Given the description of an element on the screen output the (x, y) to click on. 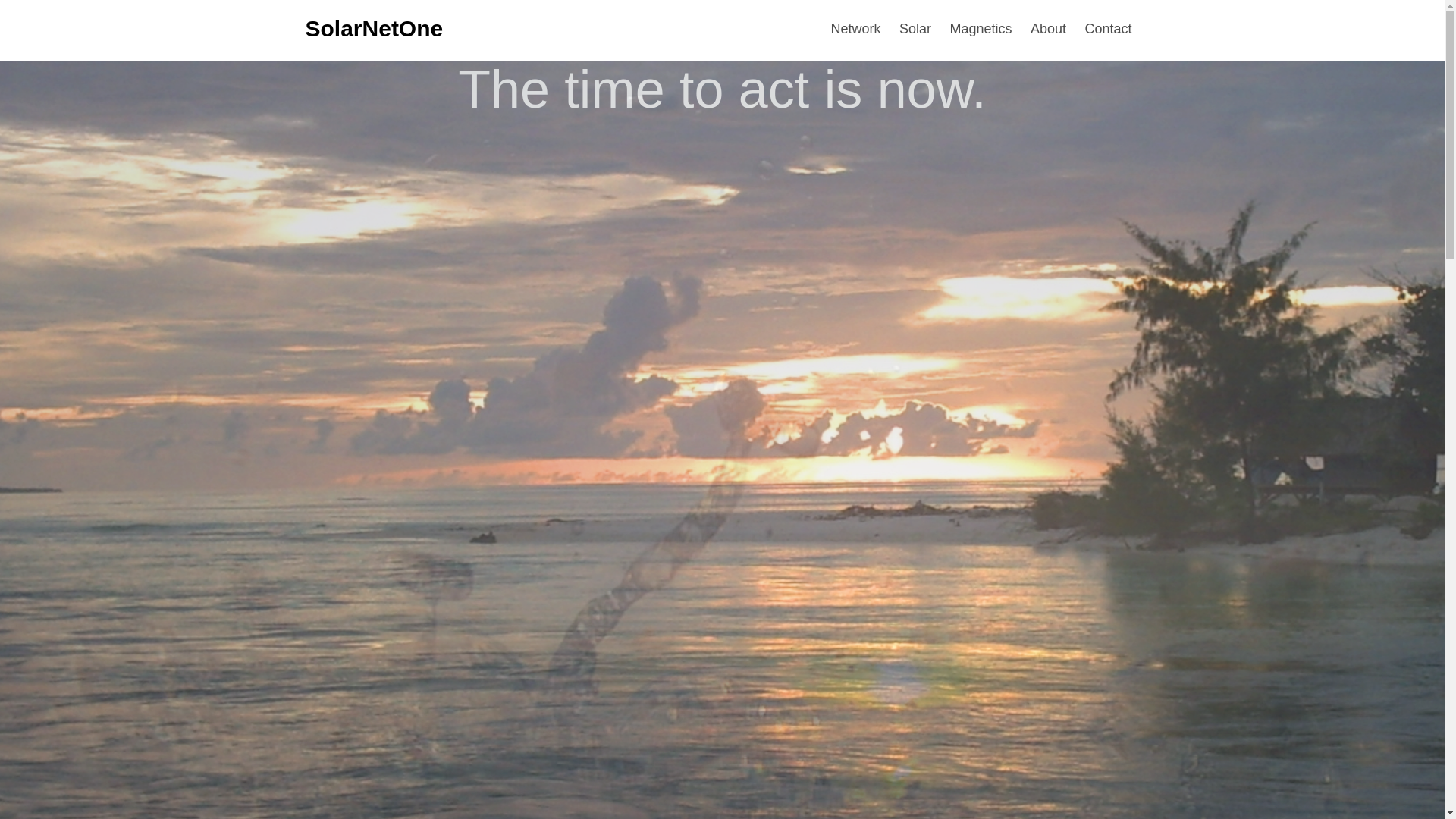
Contact (1107, 28)
About (1048, 28)
SolarNetOne (373, 27)
Magnetics (980, 28)
Network (856, 28)
Solar (915, 28)
